Given the description of an element on the screen output the (x, y) to click on. 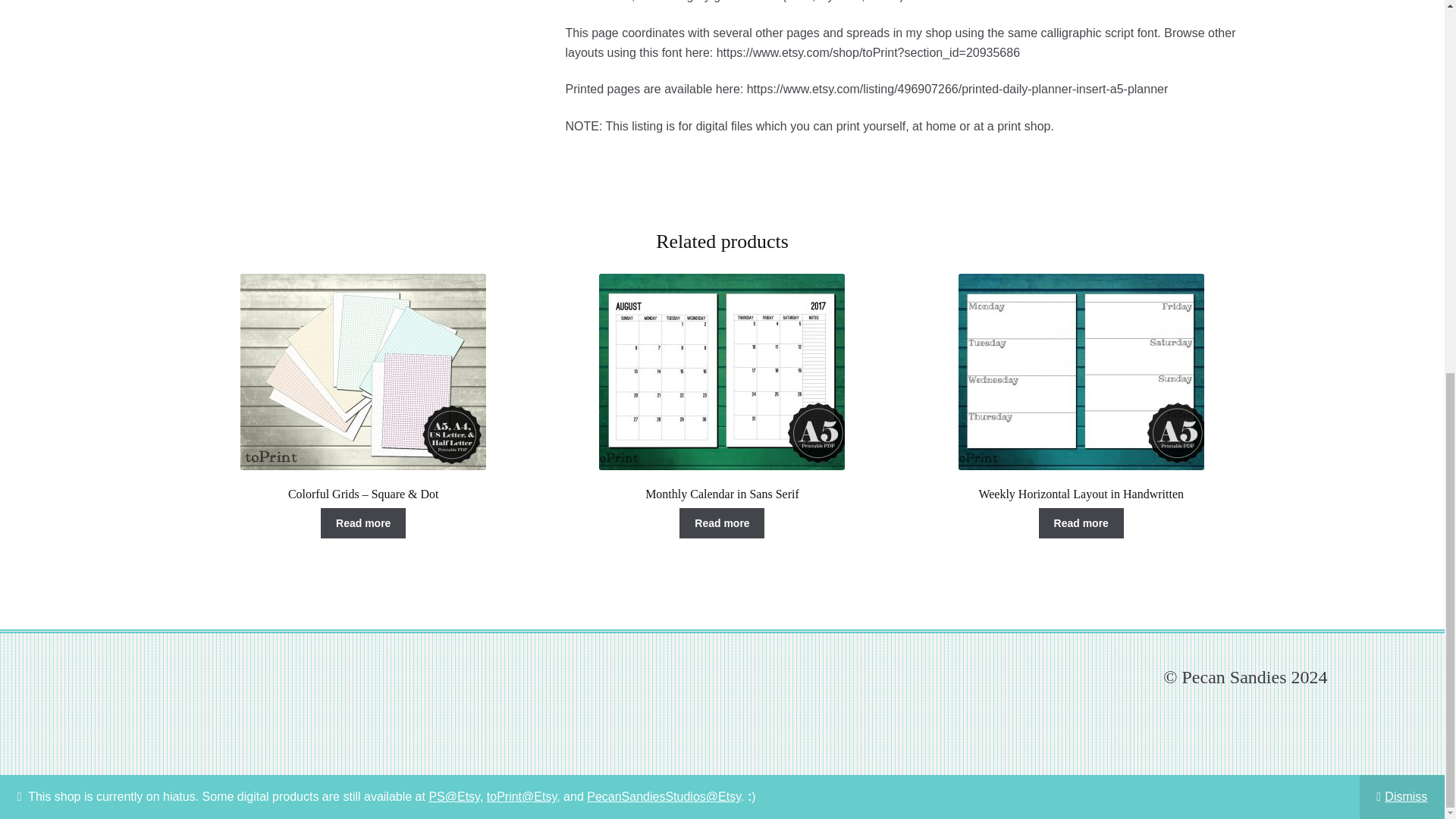
Read more (363, 522)
Weekly Horizontal Layout in Handwritten (1081, 387)
Read more (721, 522)
Monthly Calendar in Sans Serif (721, 387)
Read more (1081, 522)
